Given the description of an element on the screen output the (x, y) to click on. 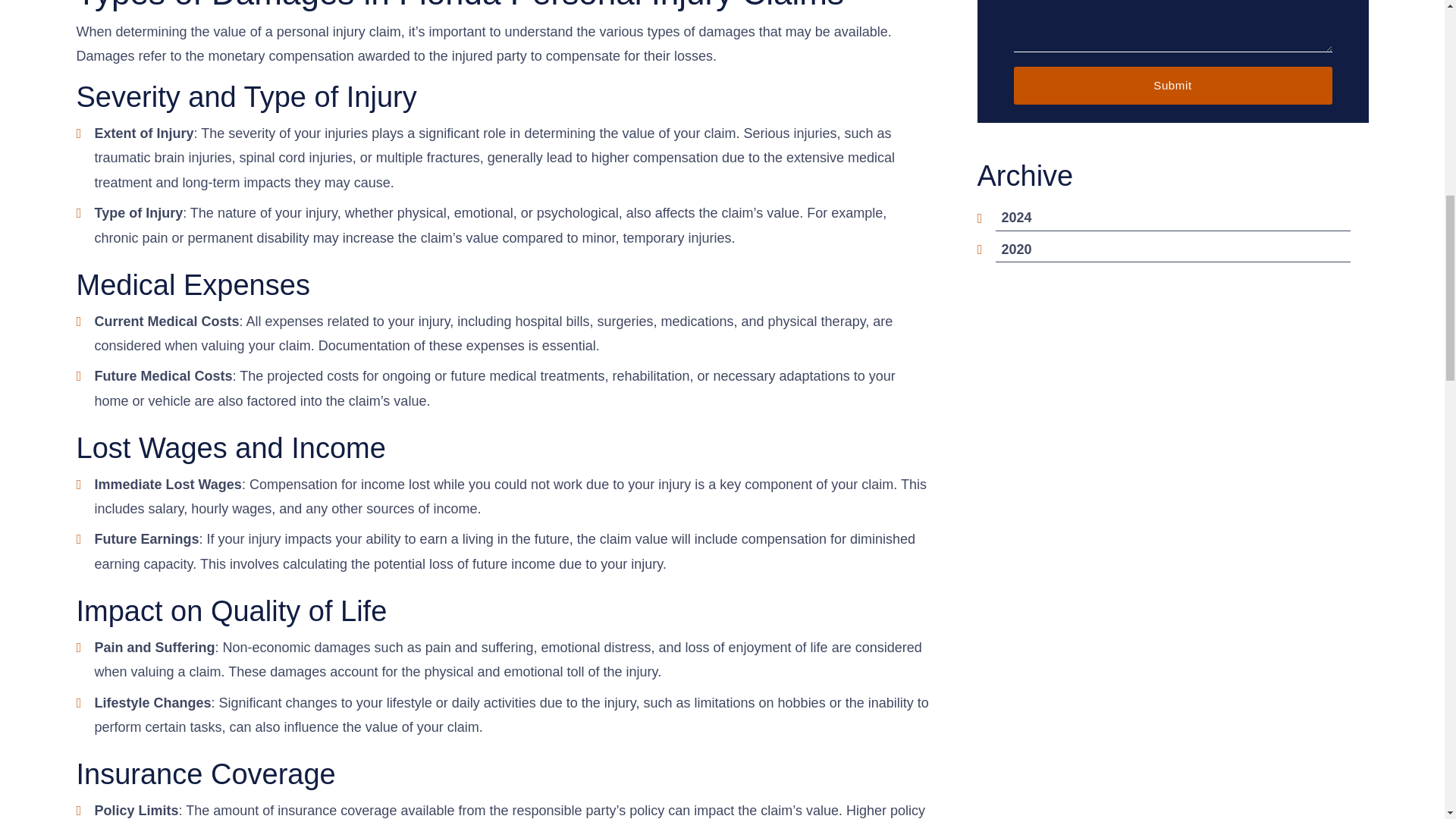
Submit (1172, 85)
2020 (1016, 248)
Submit (1172, 85)
2024 (1016, 216)
